Given the description of an element on the screen output the (x, y) to click on. 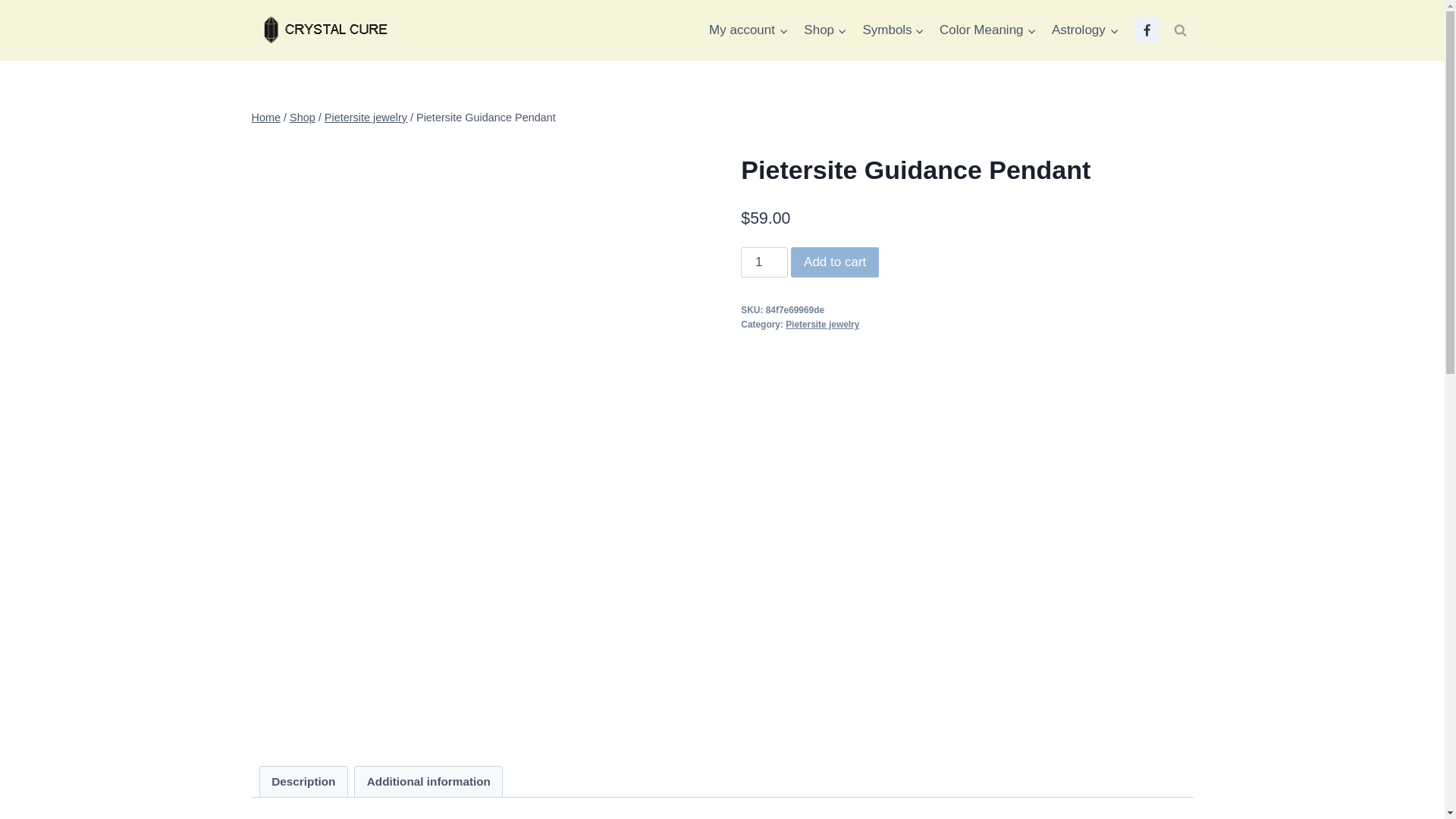
Home (266, 117)
Add to cart (834, 262)
Pietersite jewelry (365, 117)
Shop (302, 117)
1 (764, 262)
Qty (764, 262)
Symbols (893, 30)
Astrology (1084, 30)
Color Meaning (987, 30)
My account (747, 30)
Shop (825, 30)
Pietersite jewelry (822, 324)
